Given the description of an element on the screen output the (x, y) to click on. 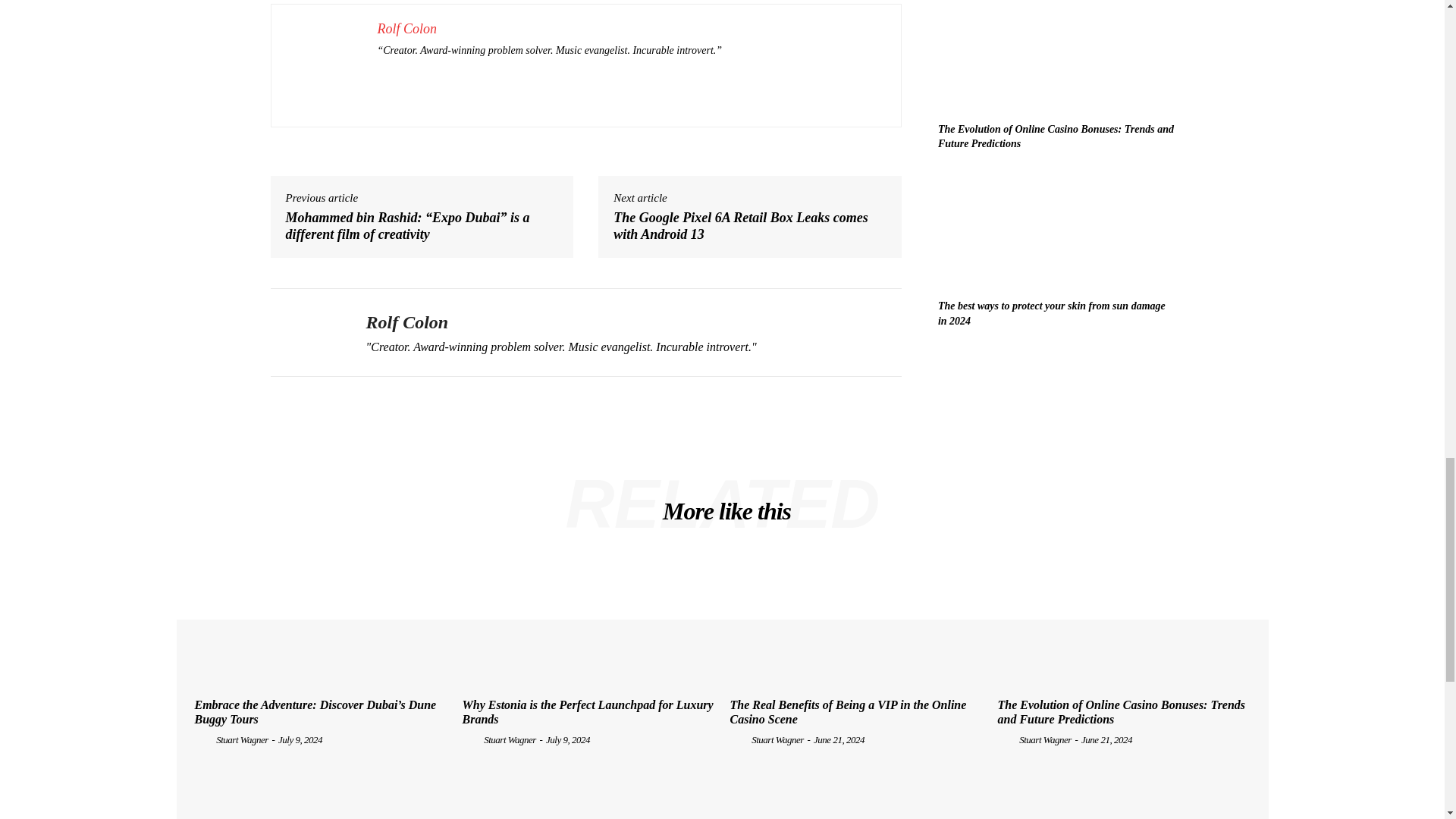
Rolf Colon (305, 332)
The best ways to protect your skin from sun damage in 2024 (1055, 230)
